Given the description of an element on the screen output the (x, y) to click on. 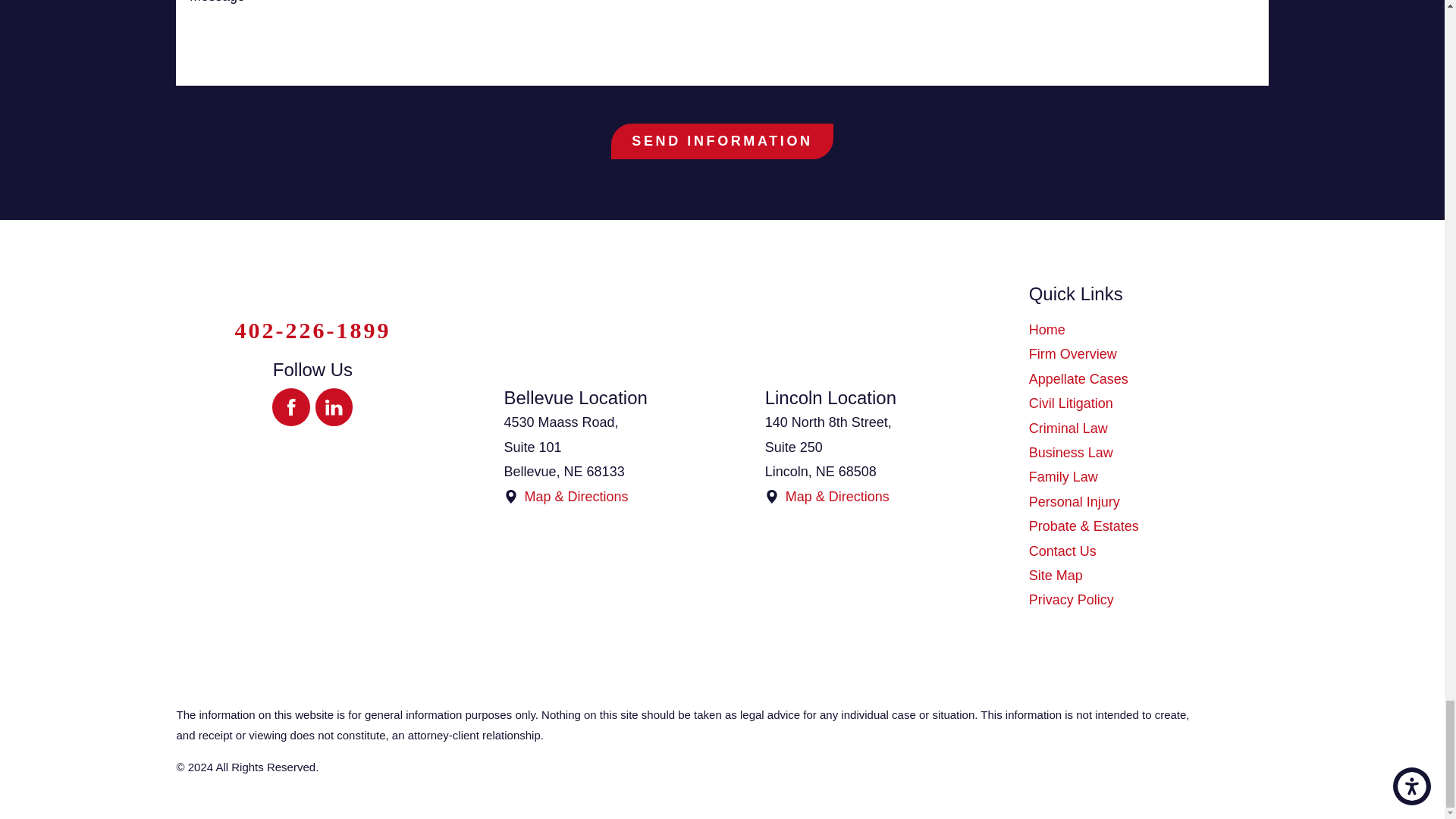
Facebook (291, 406)
